Given the description of an element on the screen output the (x, y) to click on. 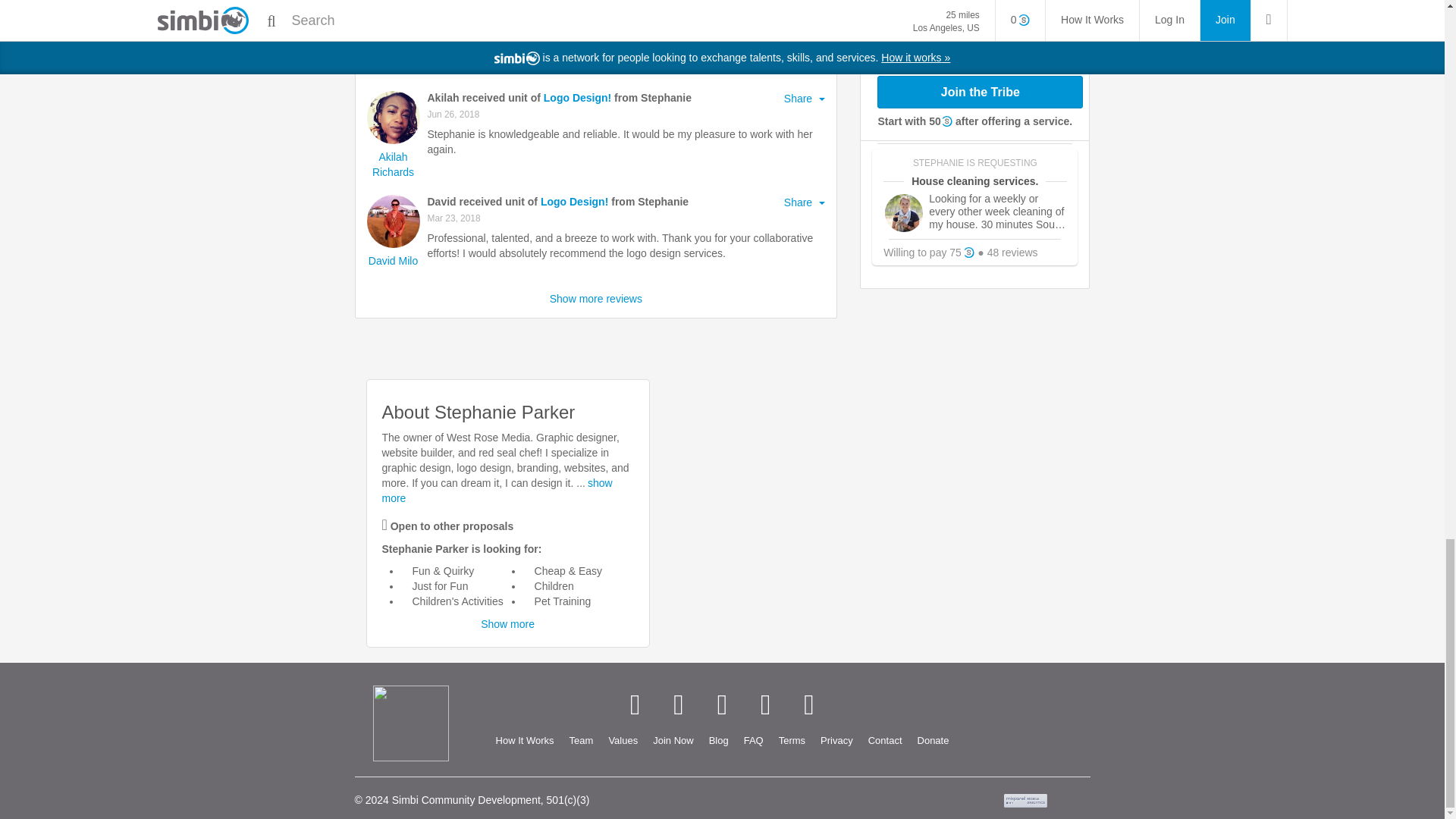
Team (581, 740)
Values (622, 740)
FAQ (753, 740)
Join (672, 740)
Email (808, 705)
Instagram (765, 705)
Privacy (836, 740)
Linkedin (722, 705)
How it works (524, 740)
Facebook (634, 705)
Twitter (678, 705)
Blog (718, 740)
Terms (791, 740)
